Given the description of an element on the screen output the (x, y) to click on. 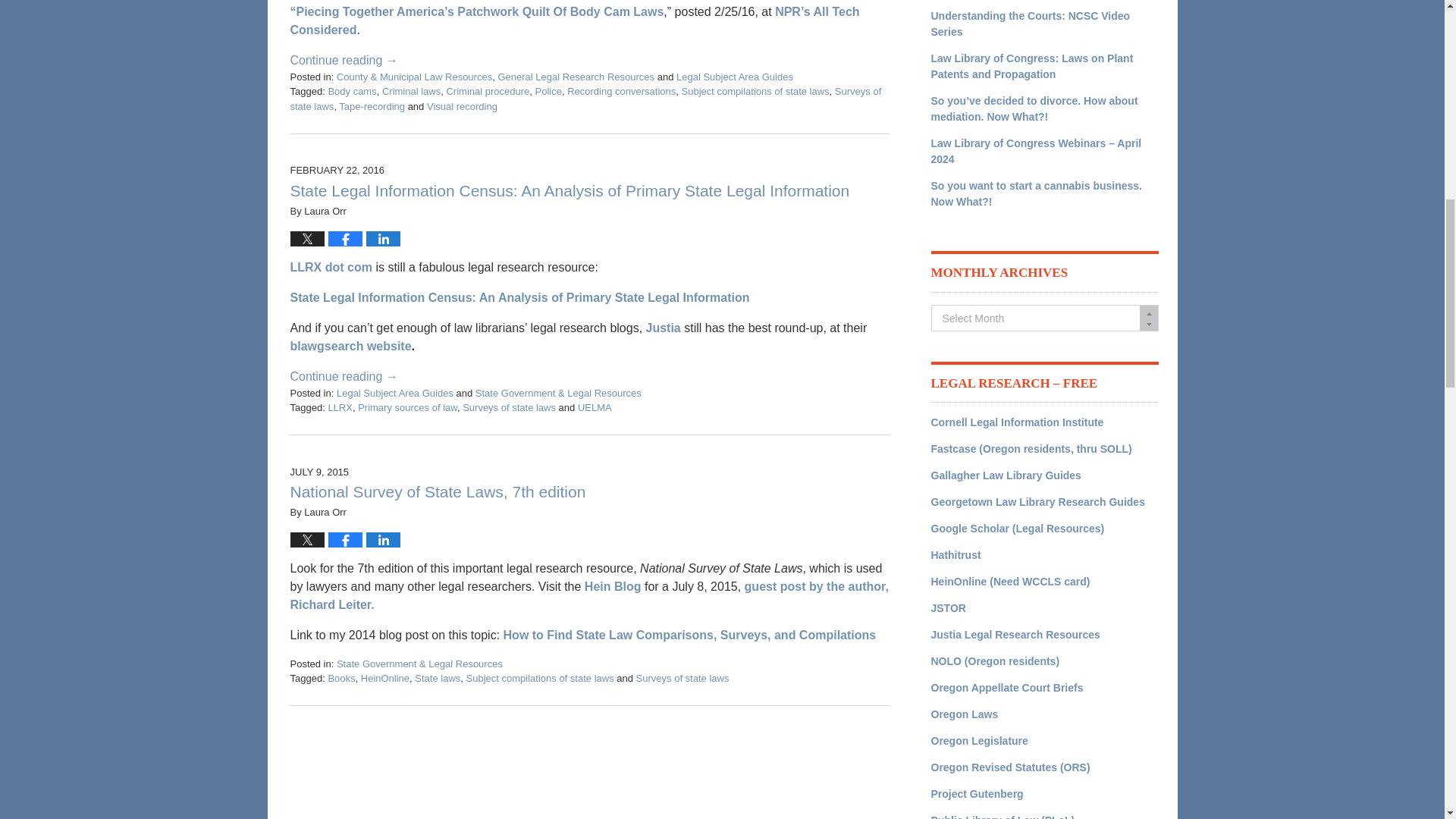
Police (548, 91)
Legal Subject Area Guides (735, 76)
Subject compilations of state laws (754, 91)
View all posts in General Legal Research Resources (575, 76)
Body cams (351, 91)
Criminal laws (411, 91)
Criminal procedure (487, 91)
General Legal Research Resources (575, 76)
Recording conversations (621, 91)
